Given the description of an element on the screen output the (x, y) to click on. 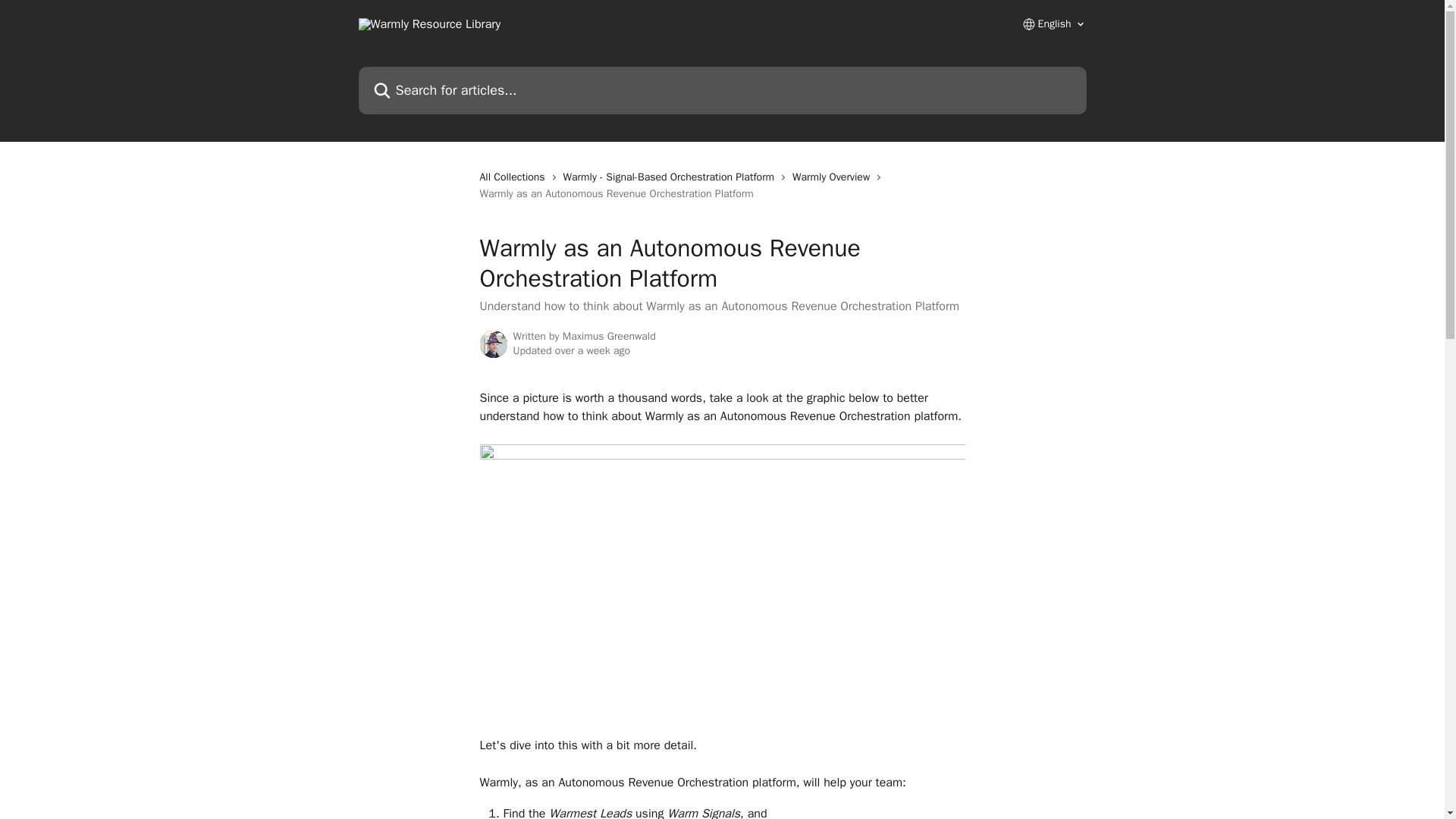
All Collections (514, 176)
Warmly Overview (834, 176)
Warmly - Signal-Based Orchestration Platform (671, 176)
